Given the description of an element on the screen output the (x, y) to click on. 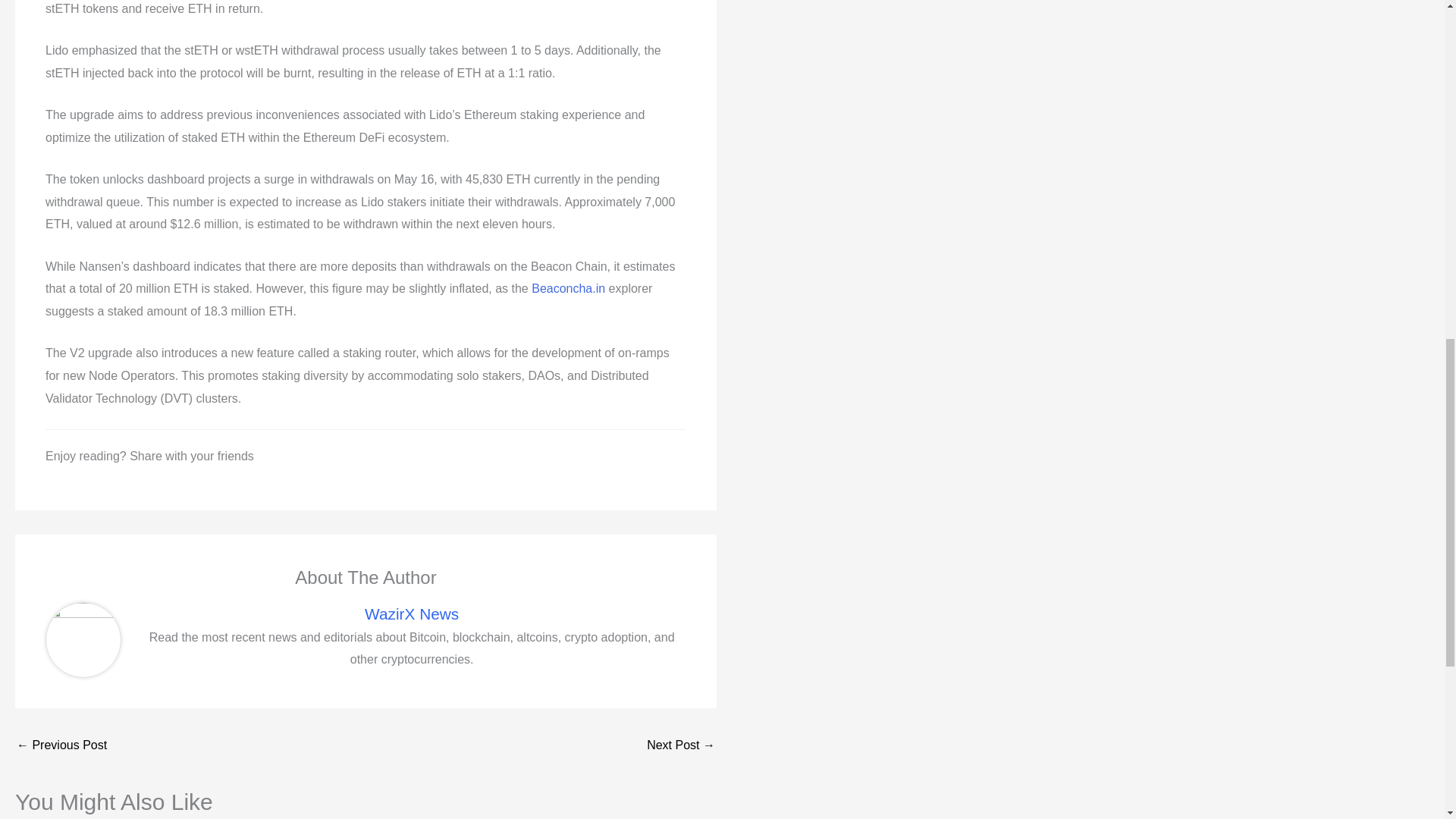
Beaconcha.in (568, 287)
WazirX News (410, 613)
